Given the description of an element on the screen output the (x, y) to click on. 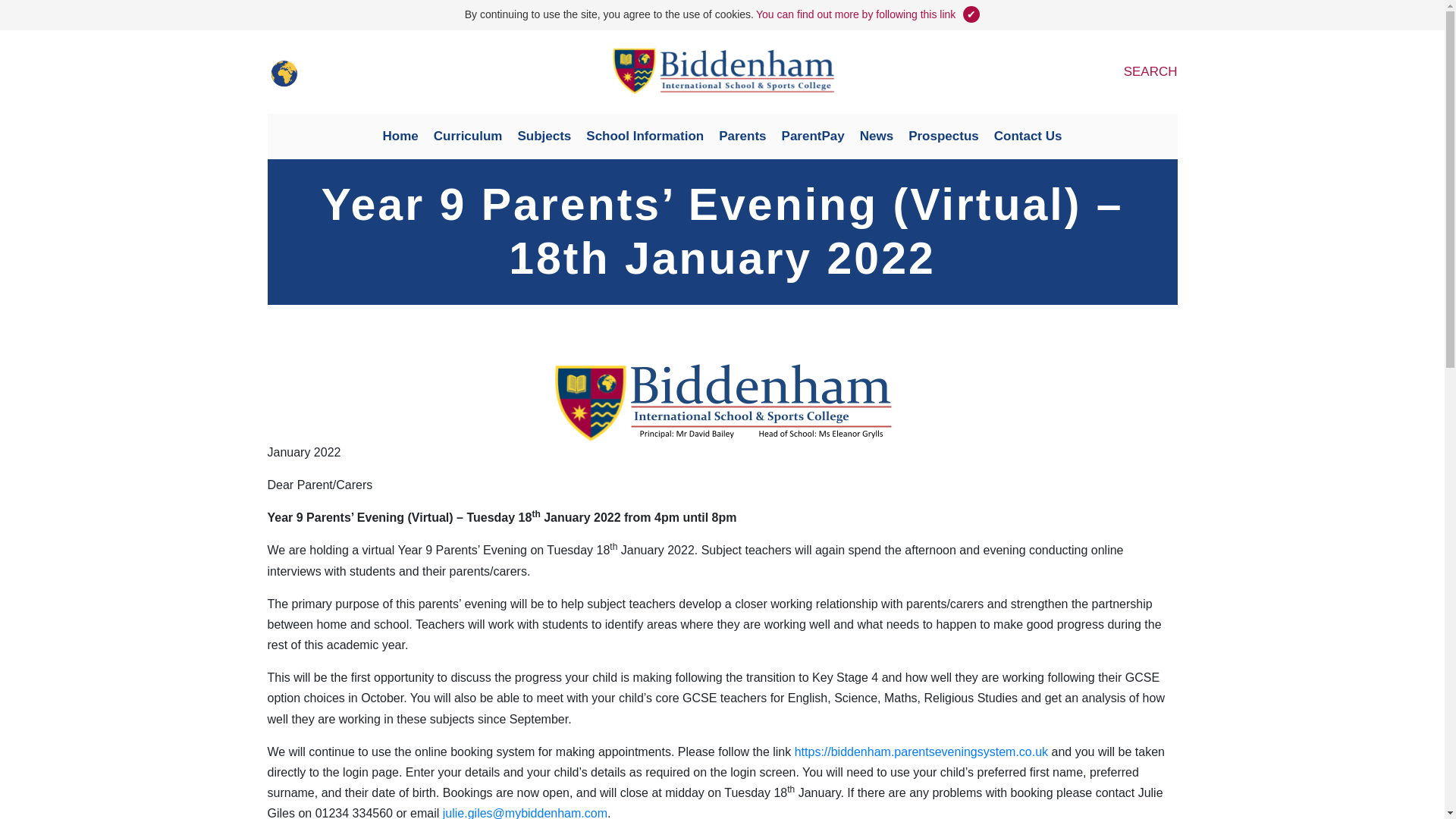
Subjects (543, 135)
You can find out more by following this link (855, 14)
Curriculum (468, 135)
Home (400, 135)
SEARCH (1133, 71)
